Given the description of an element on the screen output the (x, y) to click on. 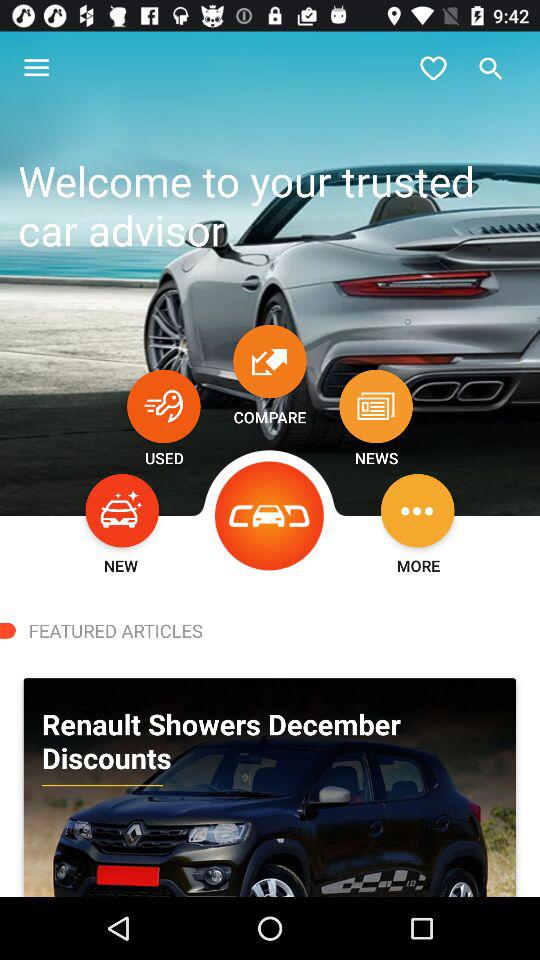
search item (491, 68)
